Given the description of an element on the screen output the (x, y) to click on. 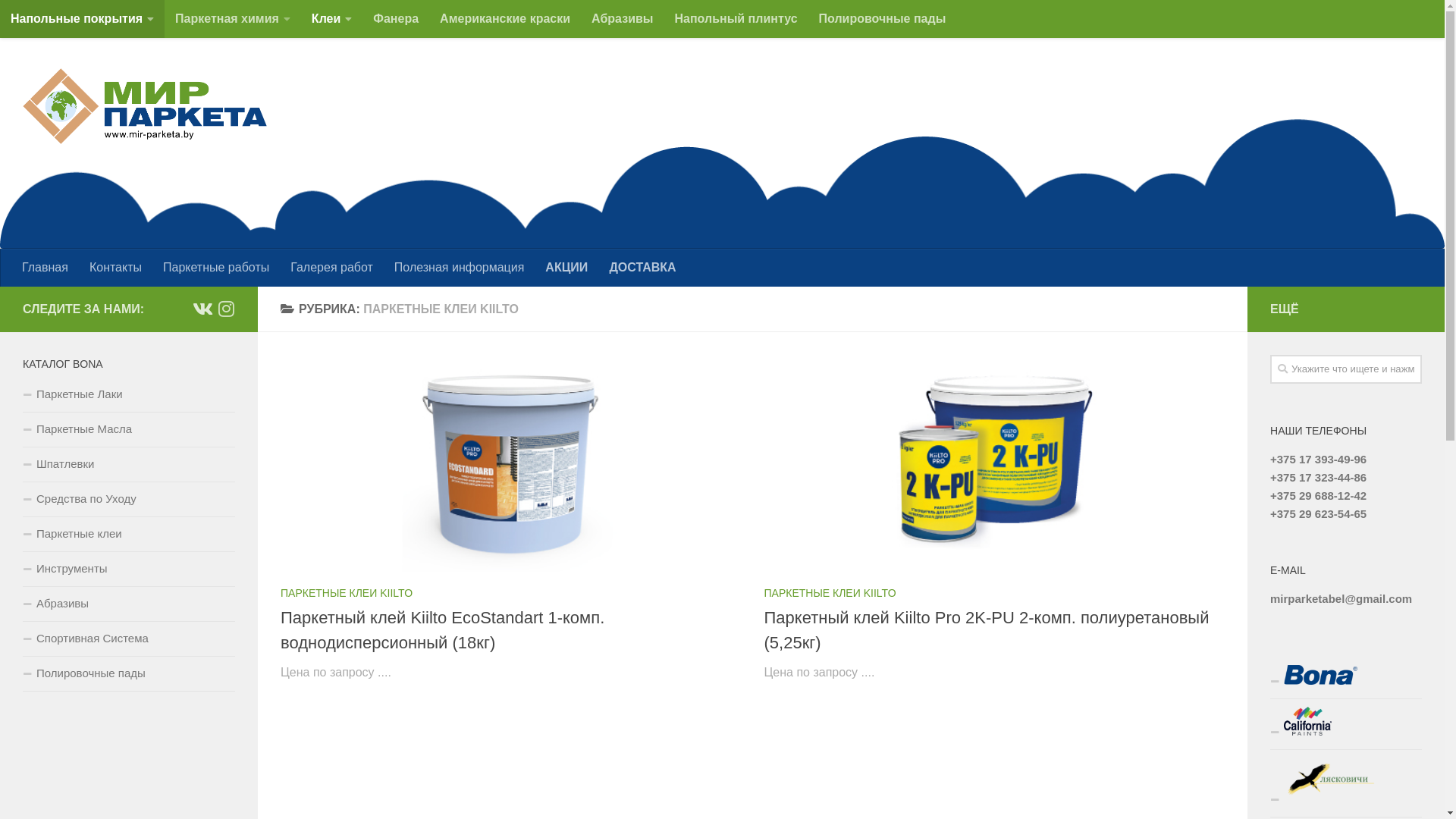
vk.com Element type: hover (201, 308)
